Given the description of an element on the screen output the (x, y) to click on. 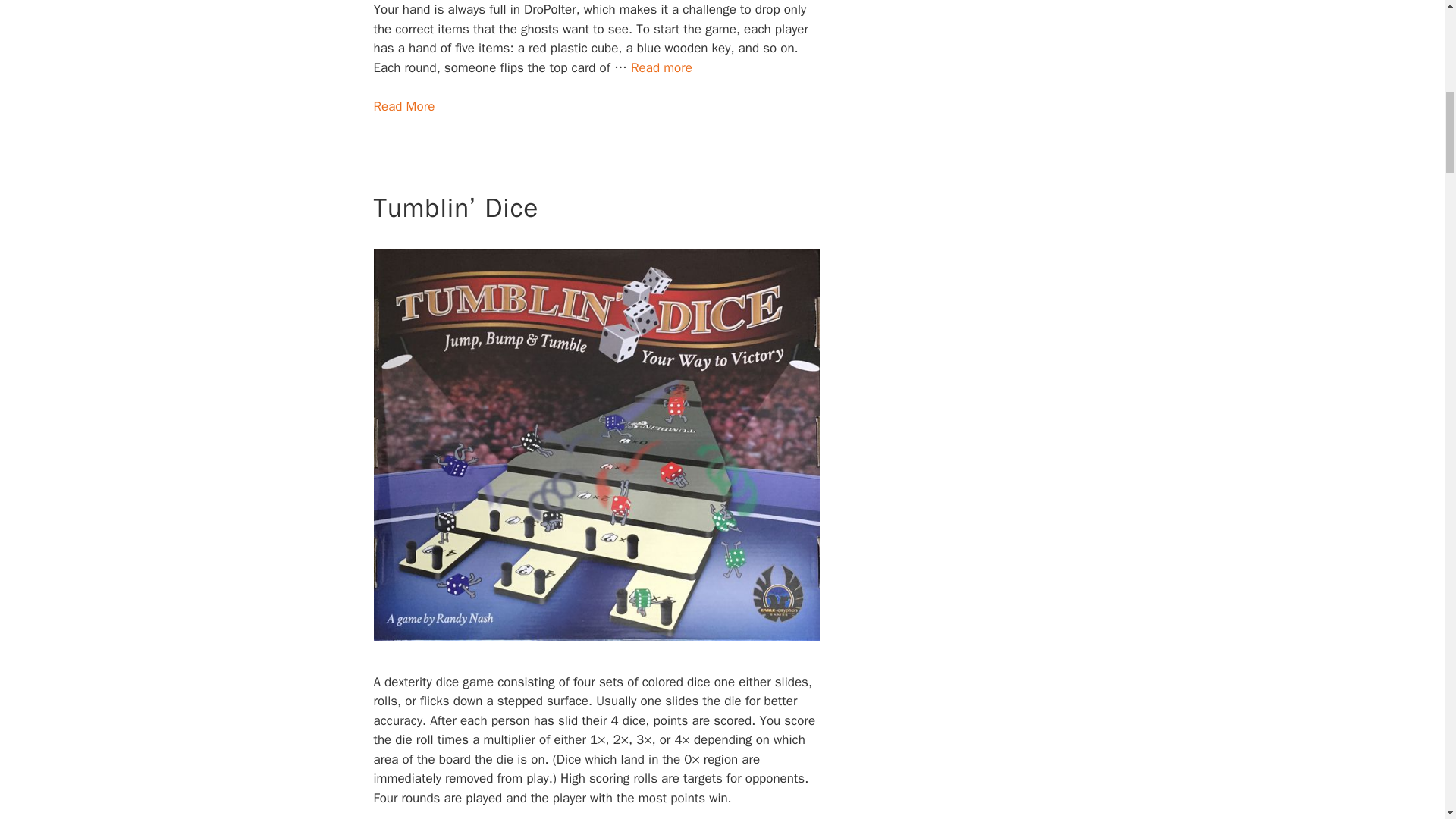
Read More (402, 106)
Read More (402, 106)
Dro Polter (661, 67)
Read more (661, 67)
